Given the description of an element on the screen output the (x, y) to click on. 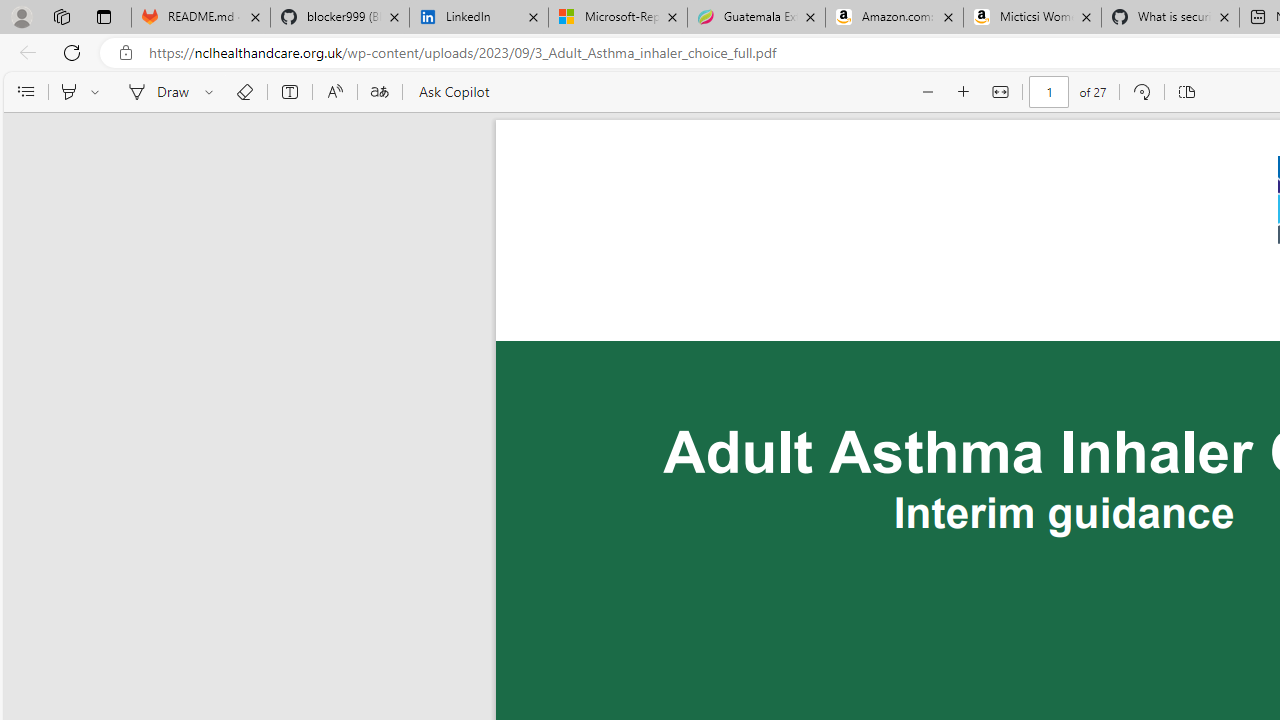
Personal Profile (21, 16)
Contents (25, 92)
Microsoft-Report a Concern to Bing (618, 17)
Rotate (Ctrl+]) (1140, 92)
Select ink properties (212, 92)
Read aloud (334, 92)
Zoom in (Ctrl+Plus key) (964, 92)
Highlight (68, 92)
Page view (1185, 92)
Draw (155, 92)
Ask Copilot (452, 92)
Page number (1049, 92)
